Given the description of an element on the screen output the (x, y) to click on. 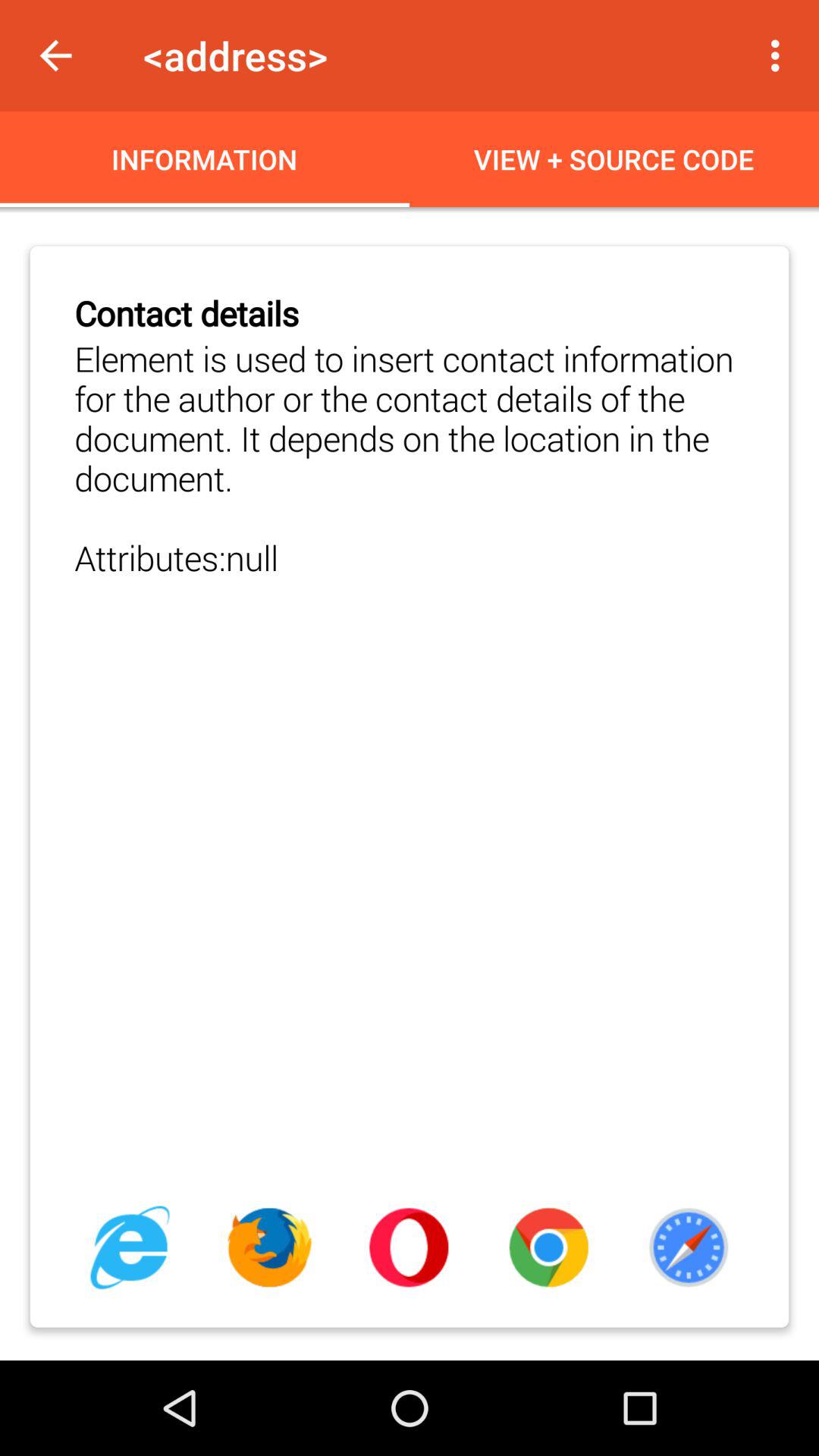
select item to the left of the <address> app (55, 55)
